Given the description of an element on the screen output the (x, y) to click on. 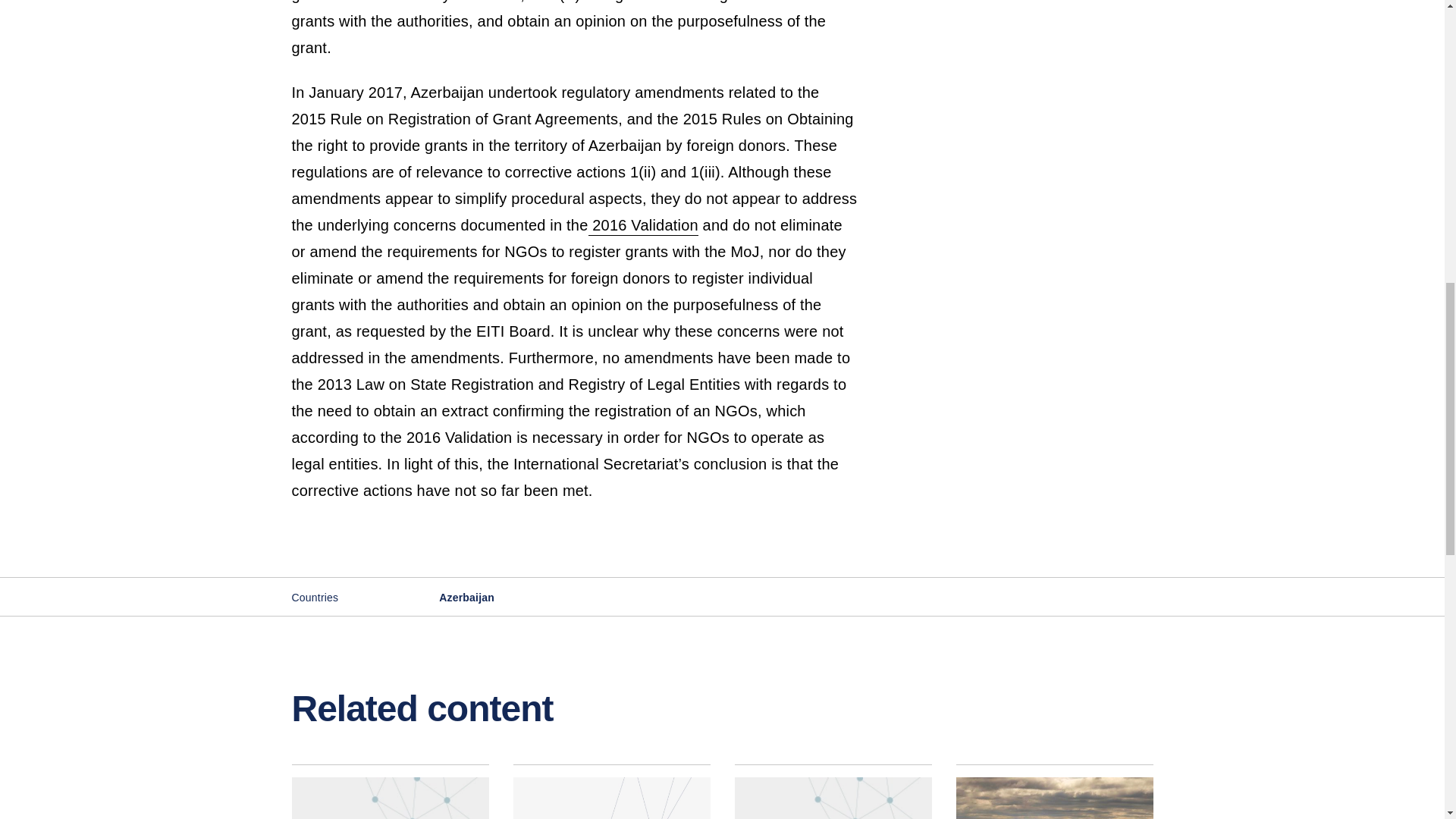
Dominican Republic 2021-2022 EITI Report  (389, 791)
Niger 2021 EITI Report (832, 791)
Mali Targeted Assessment report 2023  (611, 791)
Lessons for an accountable transition (1054, 791)
